Given the description of an element on the screen output the (x, y) to click on. 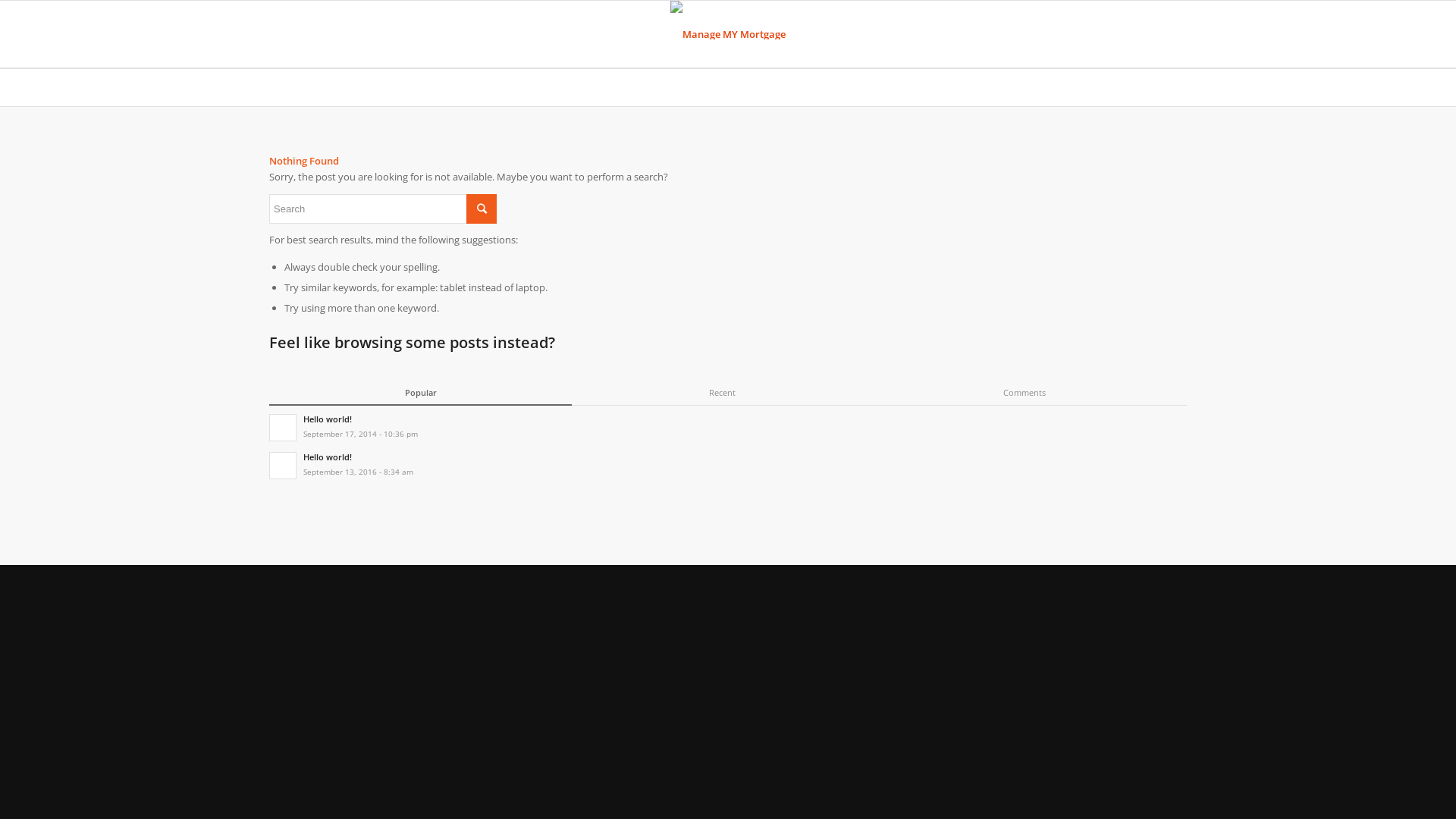
Hello world!
September 13, 2016 - 8:34 am Element type: text (727, 463)
Hello world!
September 17, 2014 - 10:36 pm Element type: text (727, 426)
